Given the description of an element on the screen output the (x, y) to click on. 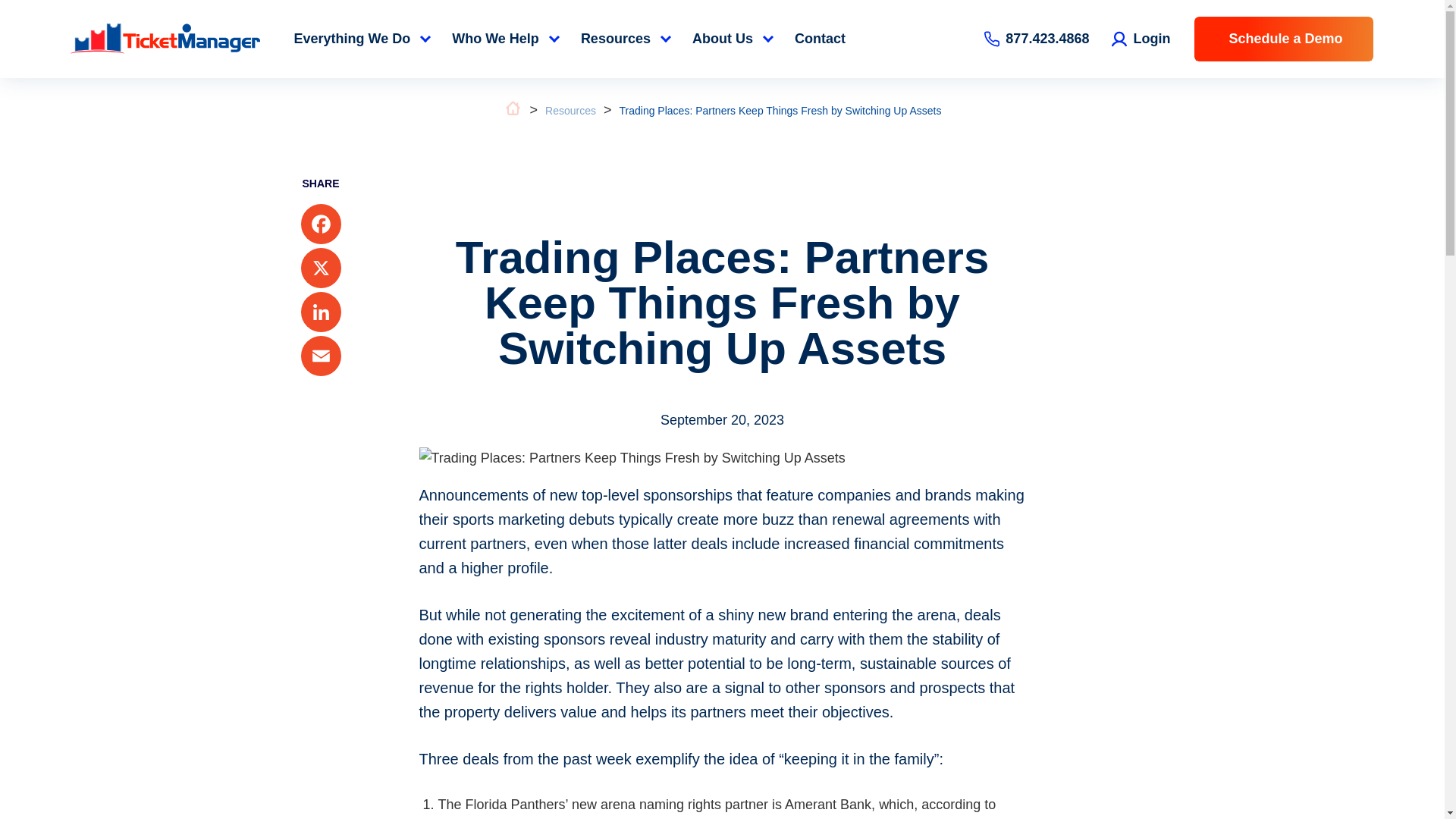
Email (320, 357)
Go to TicketManager. (512, 113)
FACEBOOK (320, 225)
Resources (625, 38)
Resources (569, 110)
Contact (820, 38)
LINKEDIN (320, 313)
Login (1141, 38)
Everything We Do (361, 38)
X (320, 269)
